Given the description of an element on the screen output the (x, y) to click on. 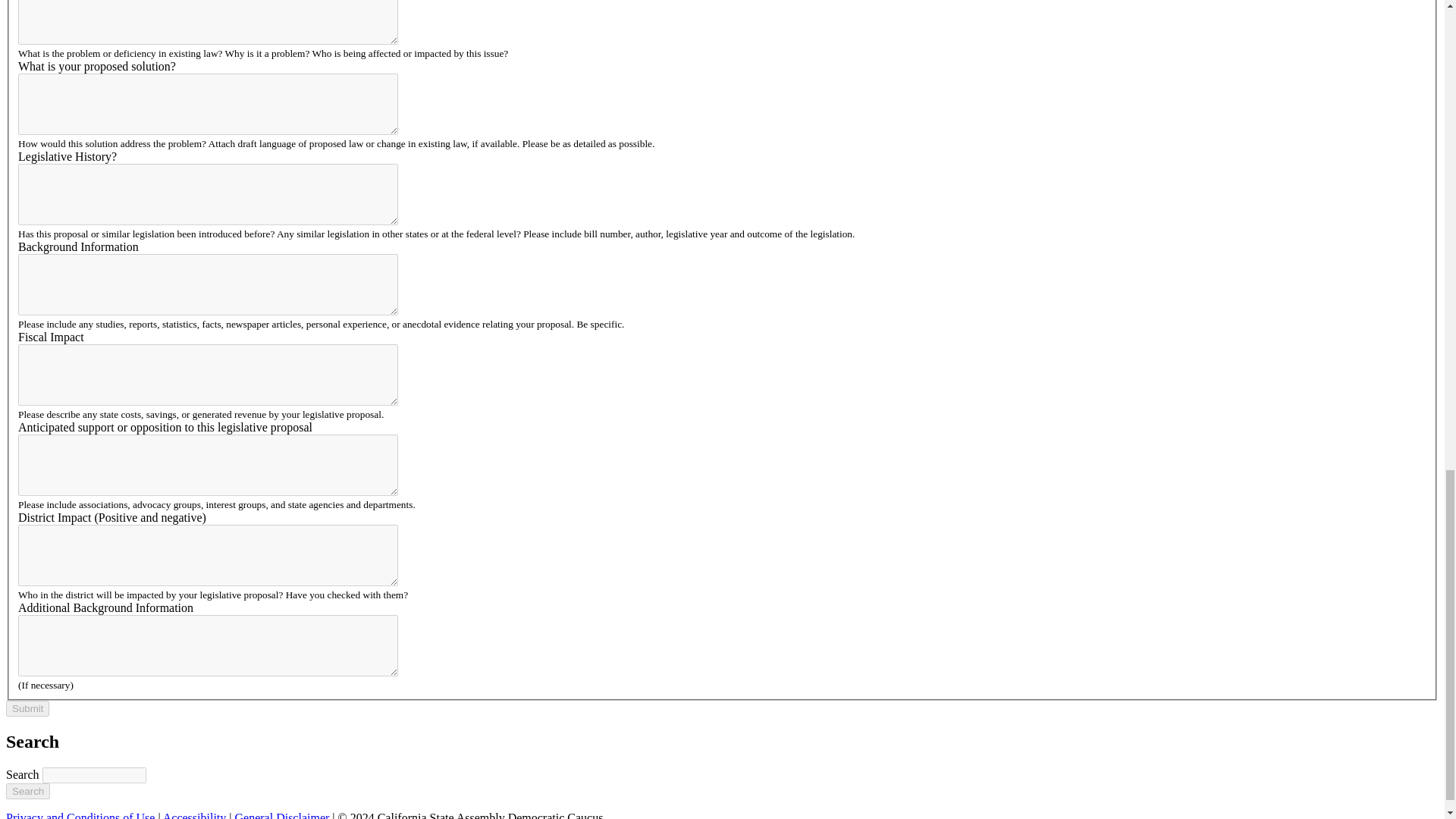
Enter the terms you wish to search for. (94, 774)
Search (27, 790)
Submit (27, 708)
